Given the description of an element on the screen output the (x, y) to click on. 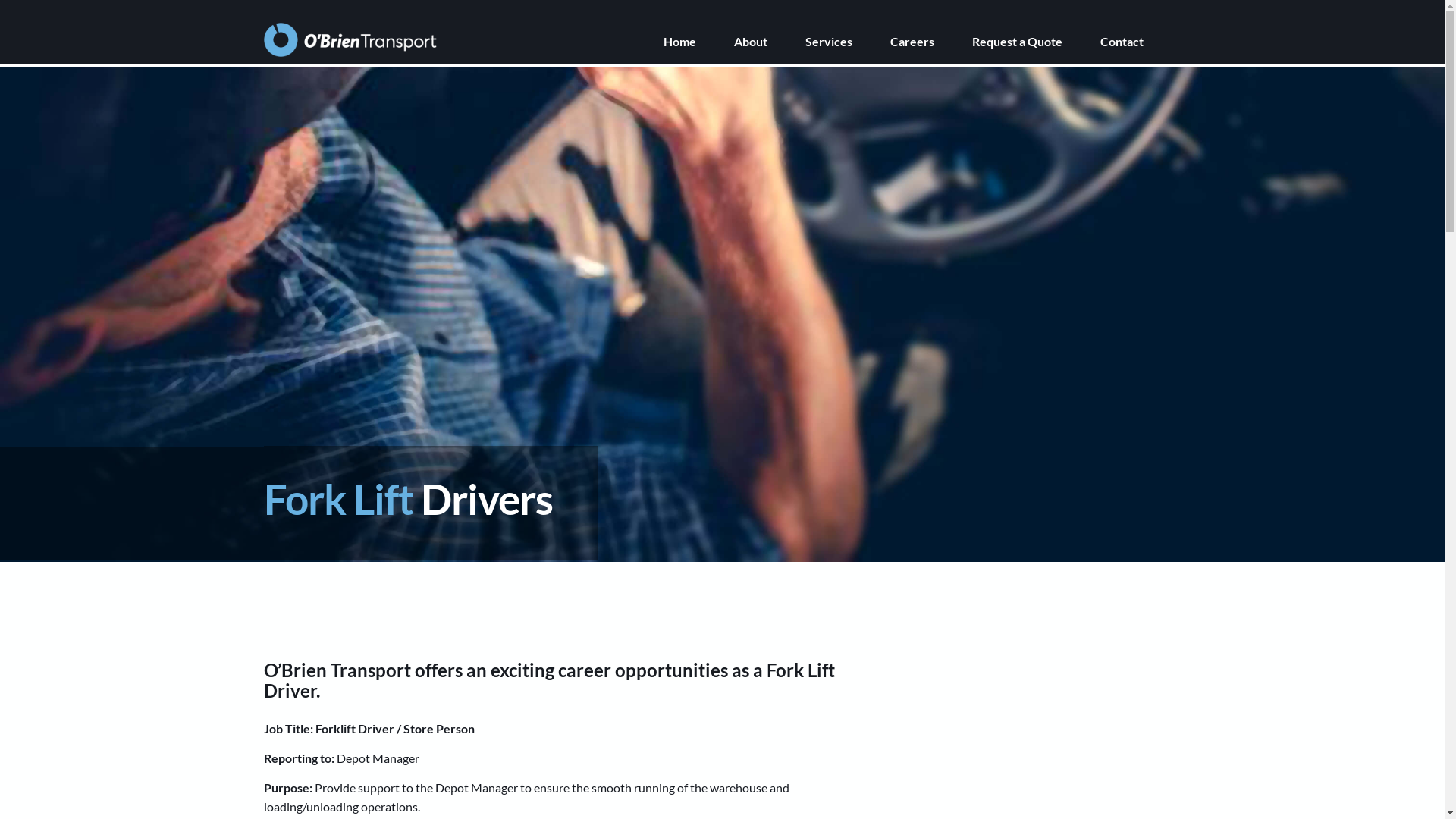
Services Element type: text (847, 41)
Contact Element type: text (1139, 41)
About Element type: text (769, 41)
Careers Element type: text (931, 41)
Request a Quote Element type: text (1036, 41)
Home Element type: text (697, 41)
